Given the description of an element on the screen output the (x, y) to click on. 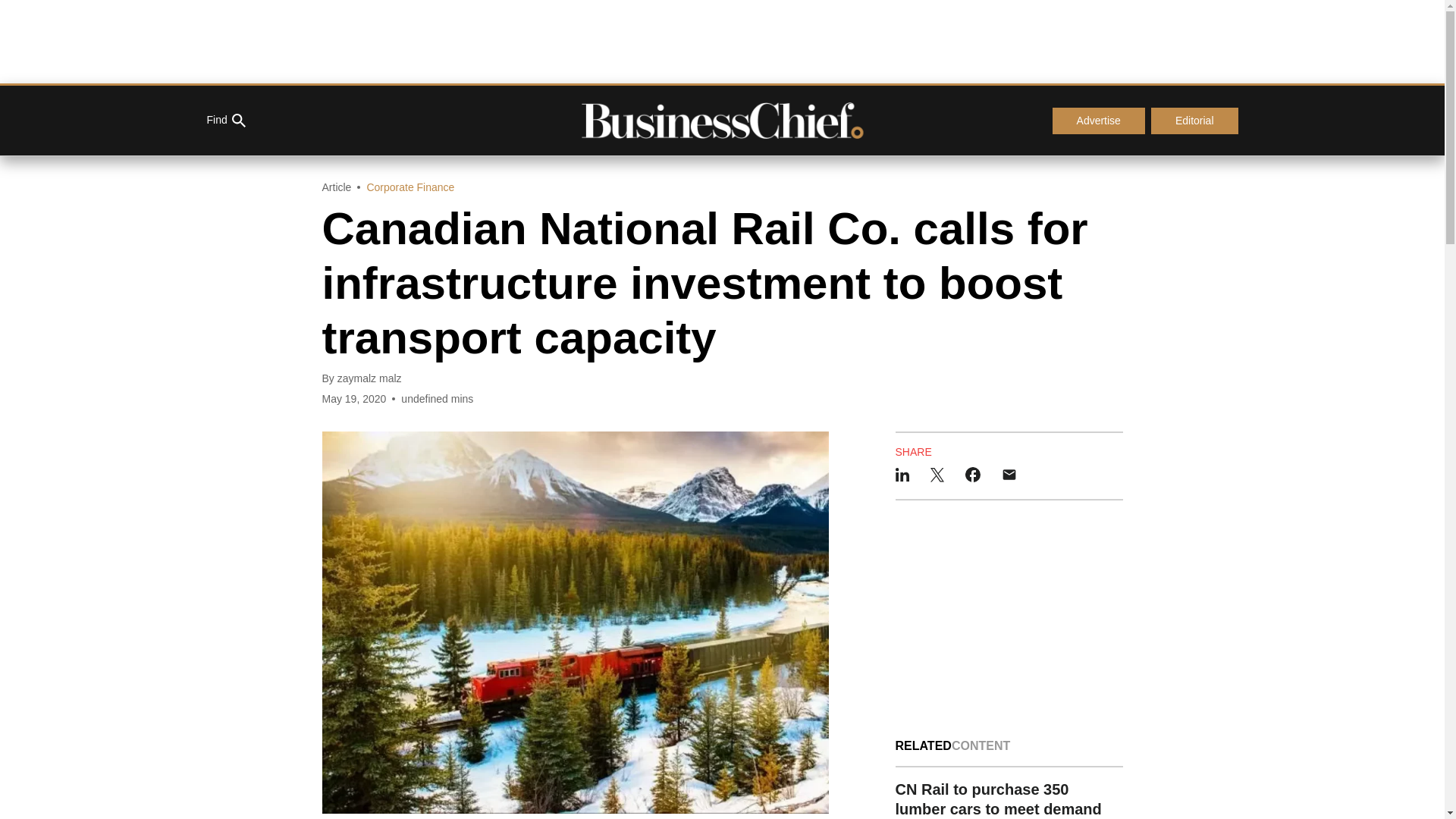
Find (225, 120)
Editorial (1195, 121)
Advertise (1098, 121)
